Given the description of an element on the screen output the (x, y) to click on. 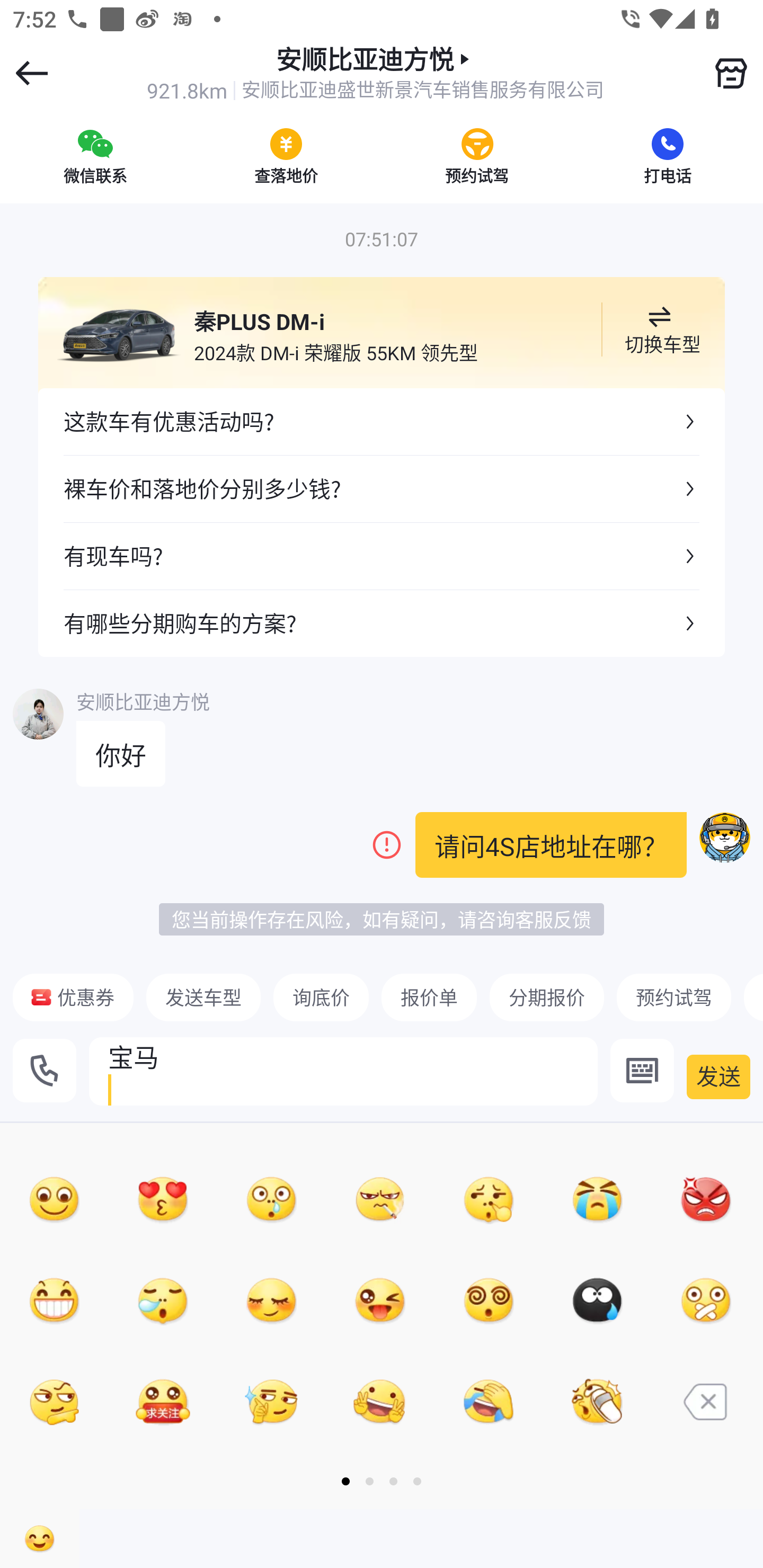
安顺比亚迪方悦 921.8km 安顺比亚迪盛世新景汽车销售服务有限公司 (374, 73)
 (730, 73)
微信联系 (95, 155)
查落地价 (285, 155)
预约试驾 (476, 155)
打电话 (667, 155)
切换车型 (659, 329)
这款车有优惠活动吗? (381, 421)
裸车价和落地价分别多少钱? (381, 489)
有现车吗? (381, 555)
有哪些分期购车的方案? (381, 622)
你好 (120, 754)
请问4S店地址在哪？ (550, 845)
优惠券 (72, 996)
发送车型 (203, 996)
询底价 (320, 996)
报价单 (428, 996)
分期报价 (546, 996)
预约试驾 (673, 996)
宝马
 (343, 1070)
发送 (718, 1077)
